Given the description of an element on the screen output the (x, y) to click on. 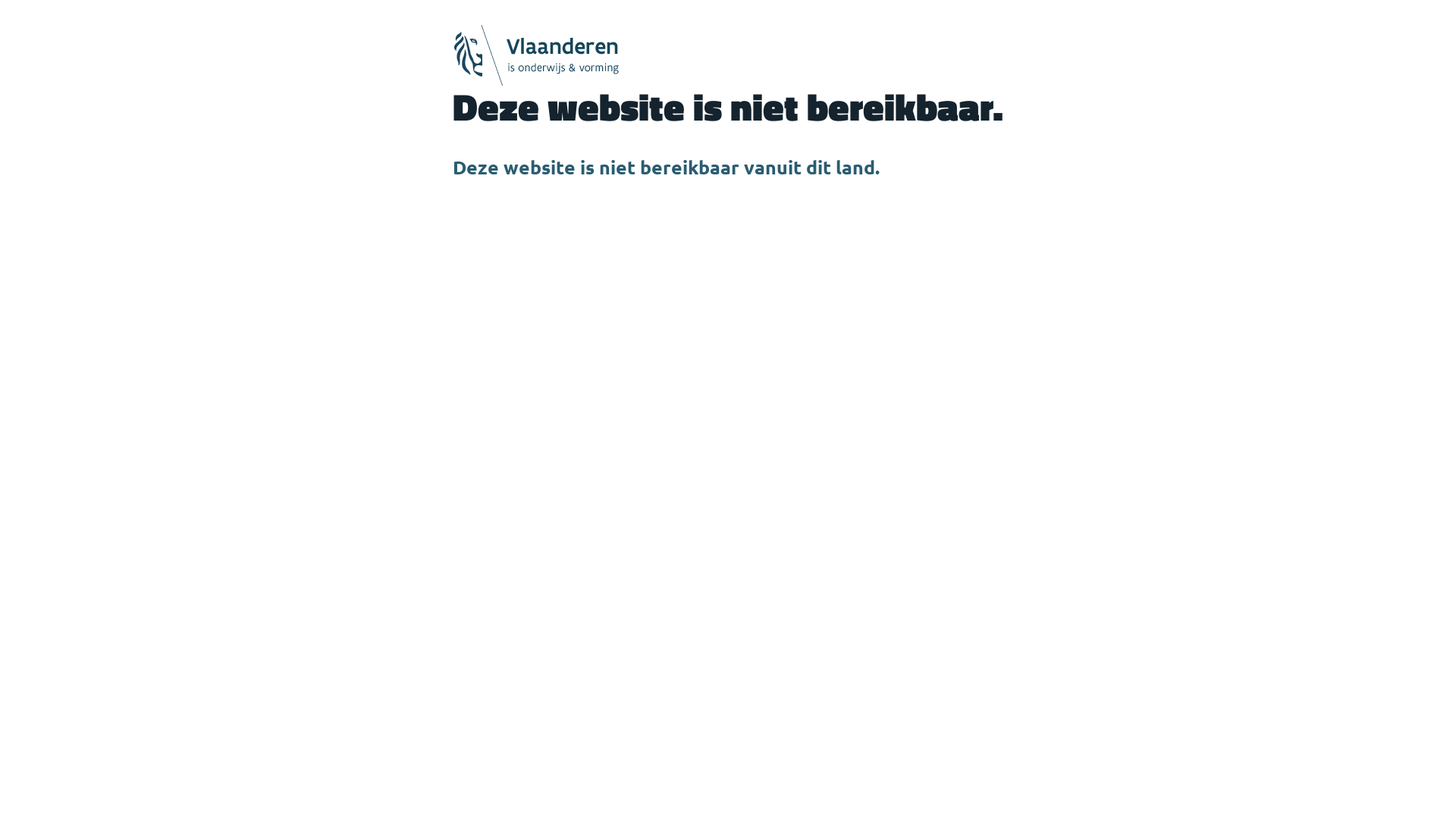
Skip to main content Element type: text (0, 0)
